Given the description of an element on the screen output the (x, y) to click on. 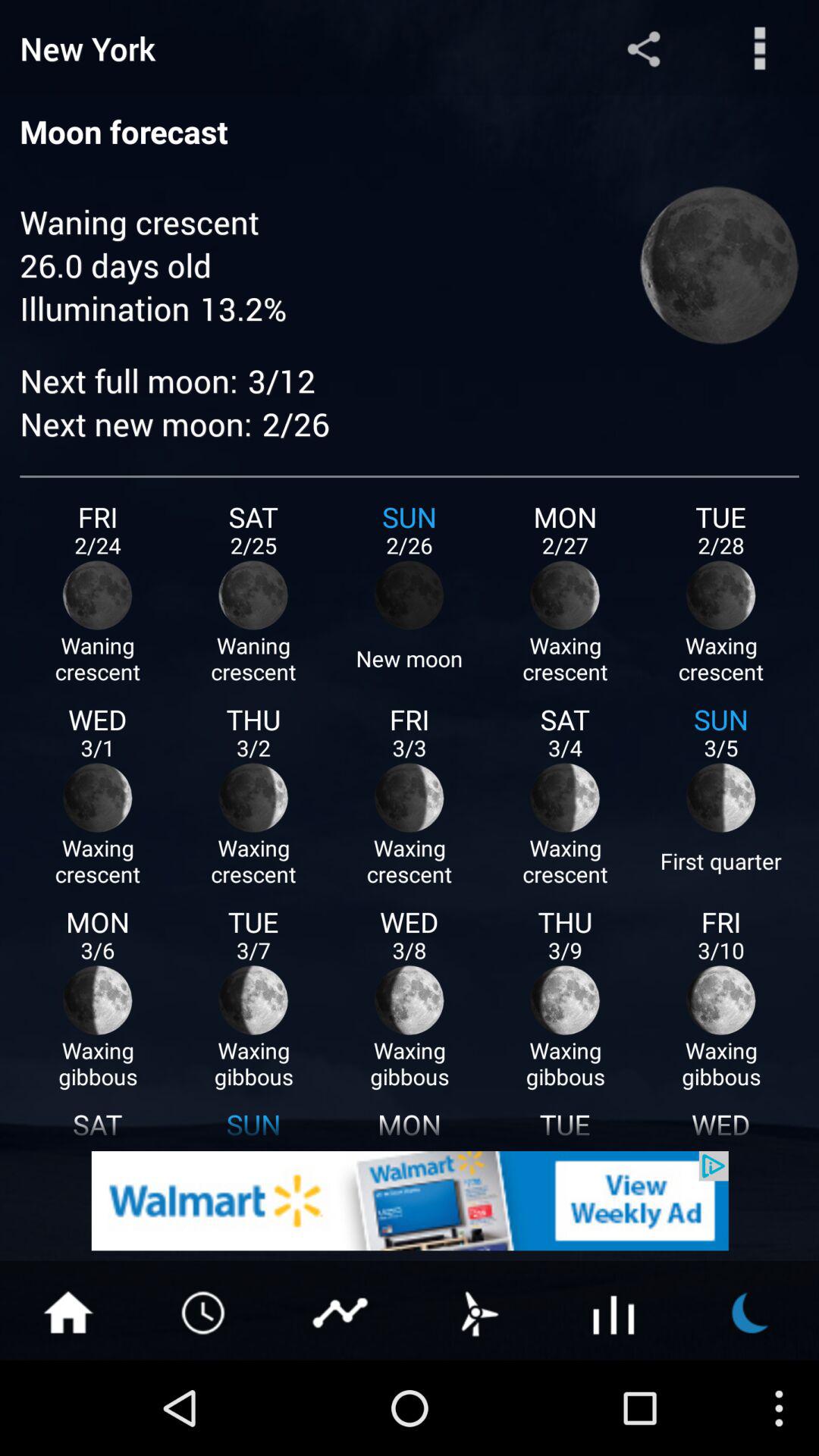
wind forecast (477, 1311)
